Given the description of an element on the screen output the (x, y) to click on. 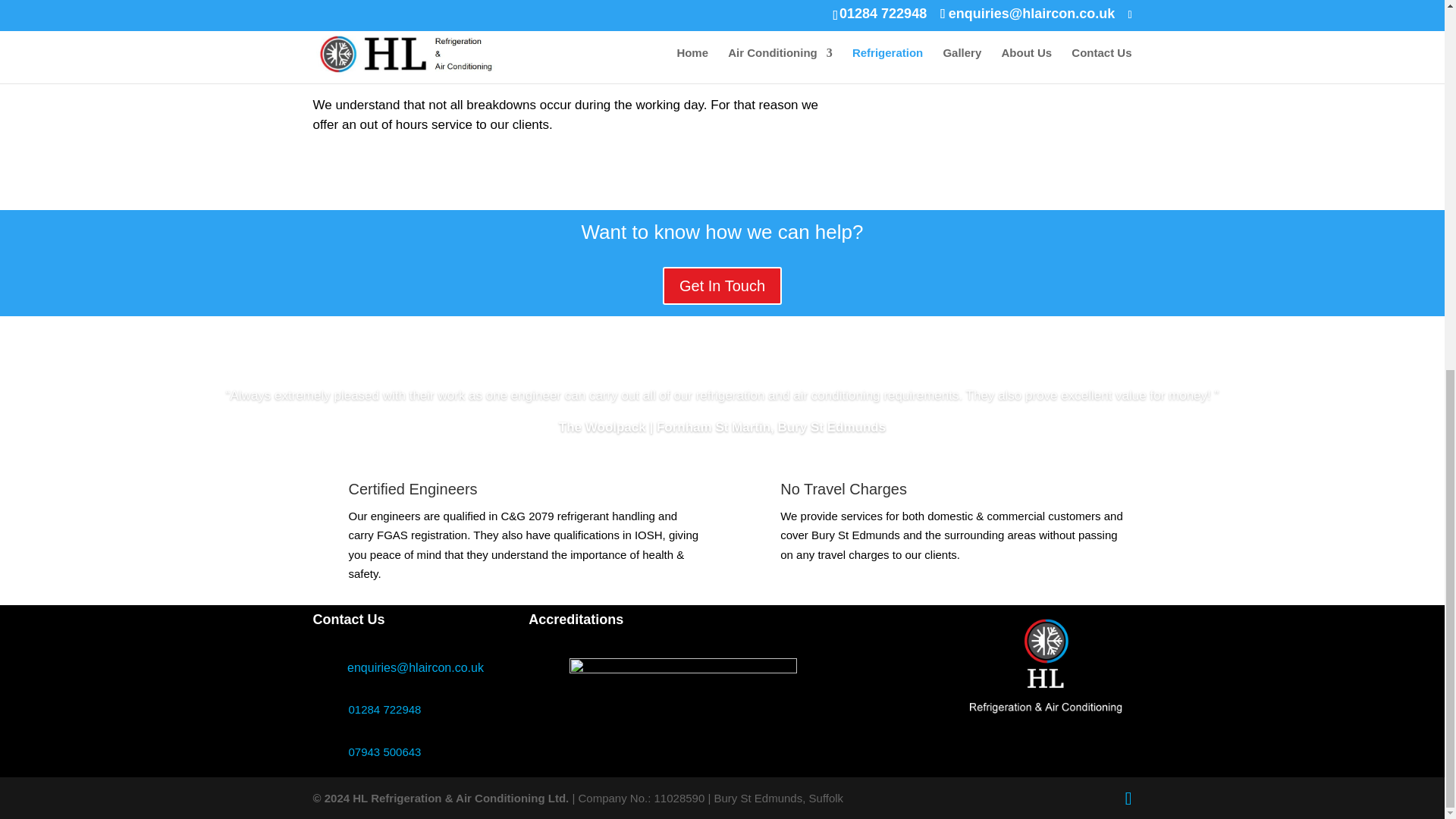
HL-Aircon-NewLogo-3 (1045, 672)
Get In Touch (721, 285)
07943 500643 (385, 751)
01284 722948 (385, 708)
